Given the description of an element on the screen output the (x, y) to click on. 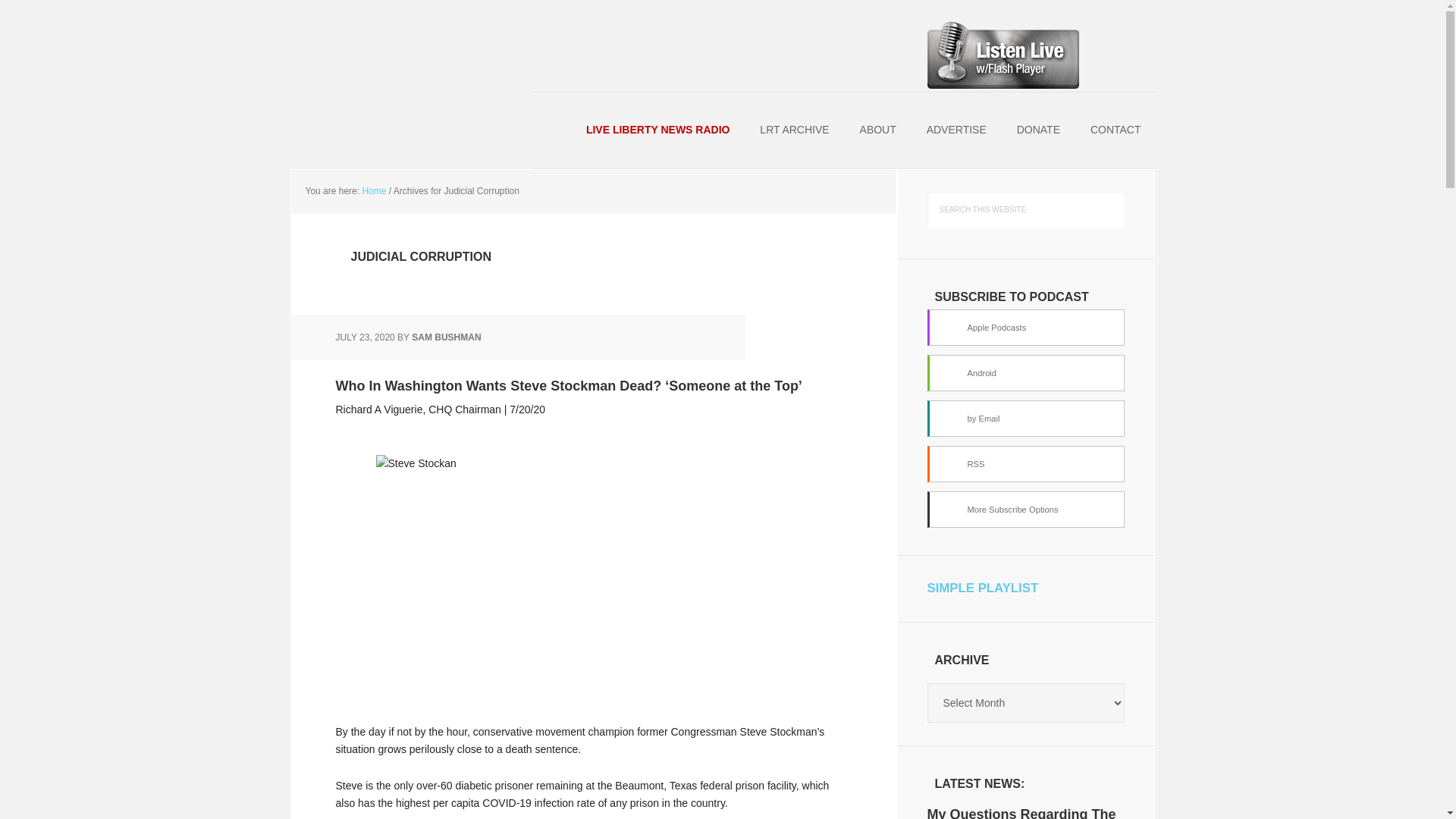
ABOUT (877, 130)
More Subscribe Options (1025, 509)
Apple Podcasts (1025, 327)
Android (1025, 372)
Subscribe by Email (1025, 418)
SIMPLE PLAYLIST (982, 587)
by Email (1025, 418)
Liberty Roundtable (387, 38)
SAM BUSHMAN (446, 337)
Subscribe via RSS (1025, 463)
More Subscribe Options (1025, 509)
DONATE (1038, 130)
Subscribe on Android (1025, 372)
